Given the description of an element on the screen output the (x, y) to click on. 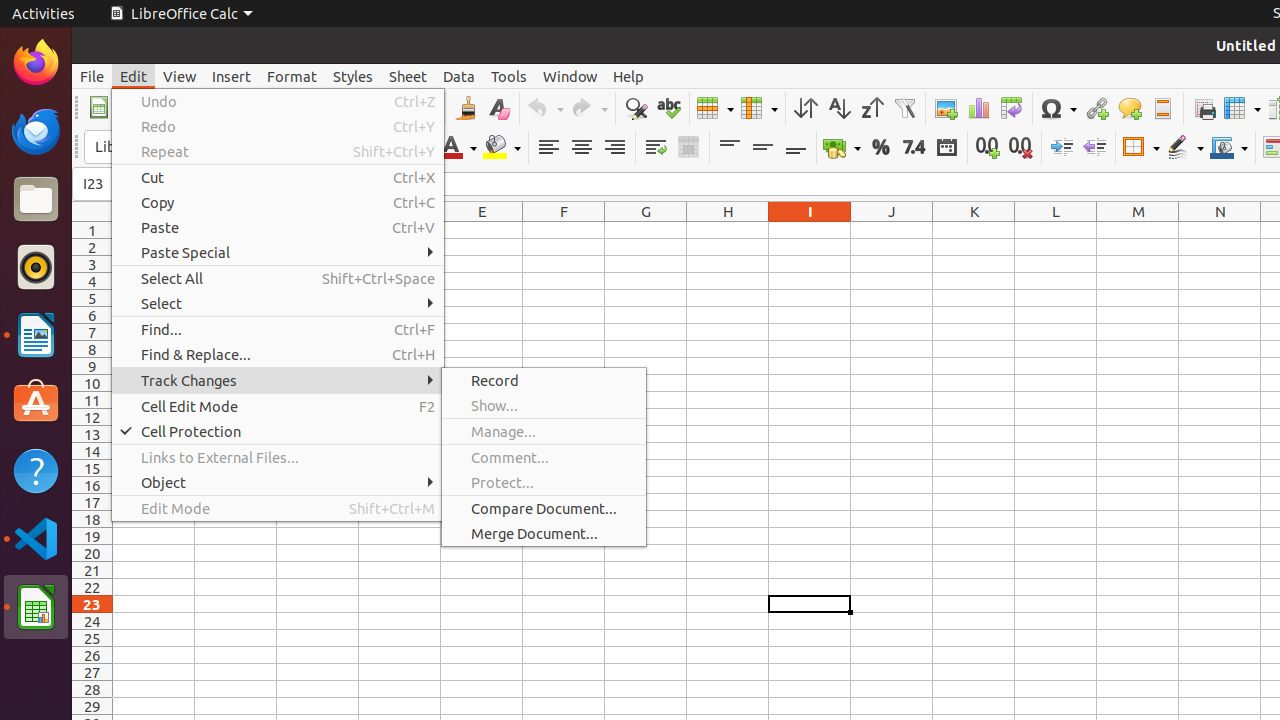
Image Element type: push-button (945, 108)
Sheet Element type: menu (408, 76)
Sort Ascending Element type: push-button (838, 108)
Manage... Element type: menu-item (544, 431)
Align Left Element type: push-button (548, 147)
